Given the description of an element on the screen output the (x, y) to click on. 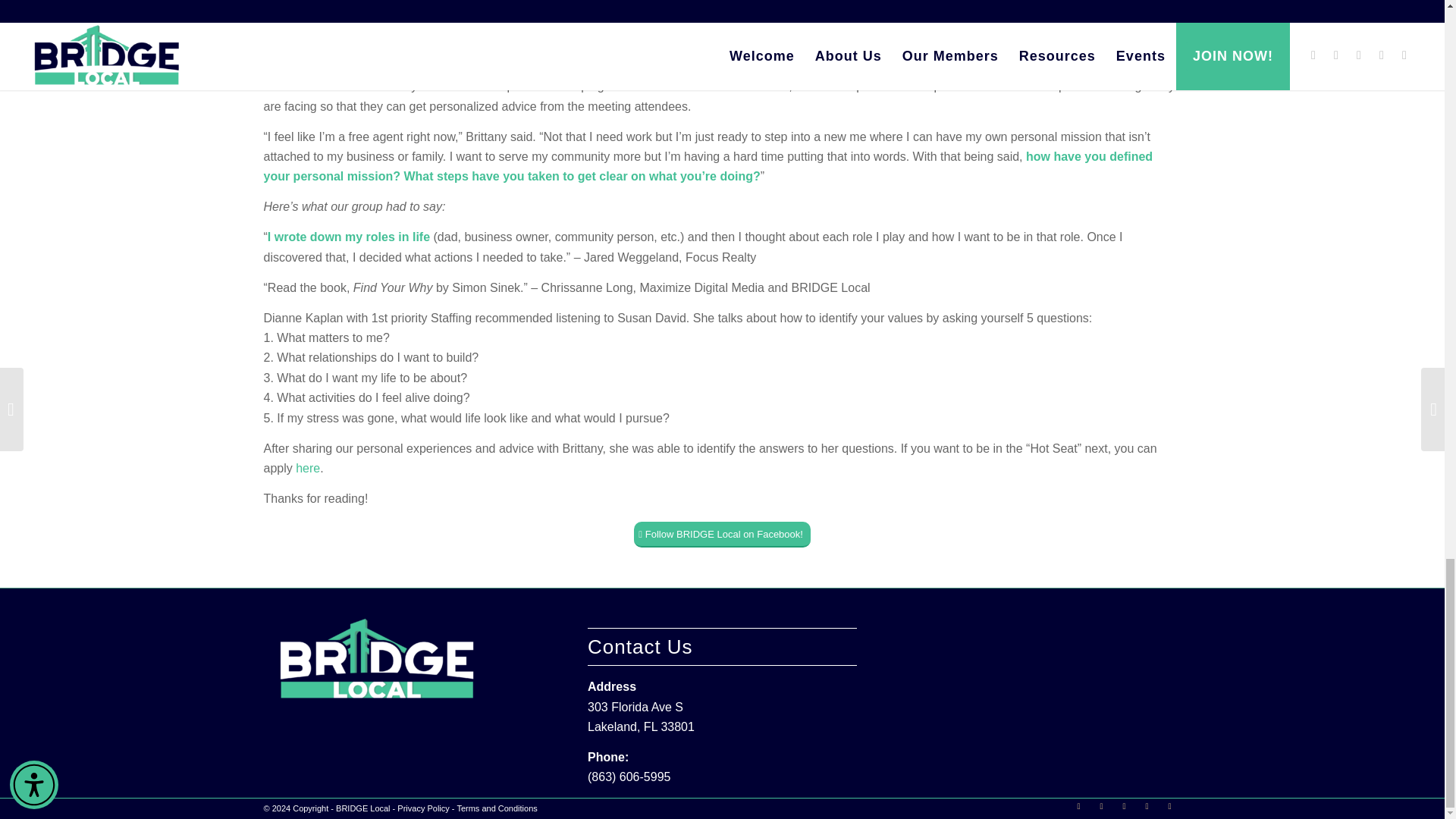
Privacy Policy (422, 808)
Instagram (1101, 805)
here (307, 468)
Terms and Conditions (497, 808)
LinkedIn (1124, 805)
Follow BRIDGE Local on Facebook! (721, 534)
Facebook (1078, 805)
Mail (1146, 805)
